Given the description of an element on the screen output the (x, y) to click on. 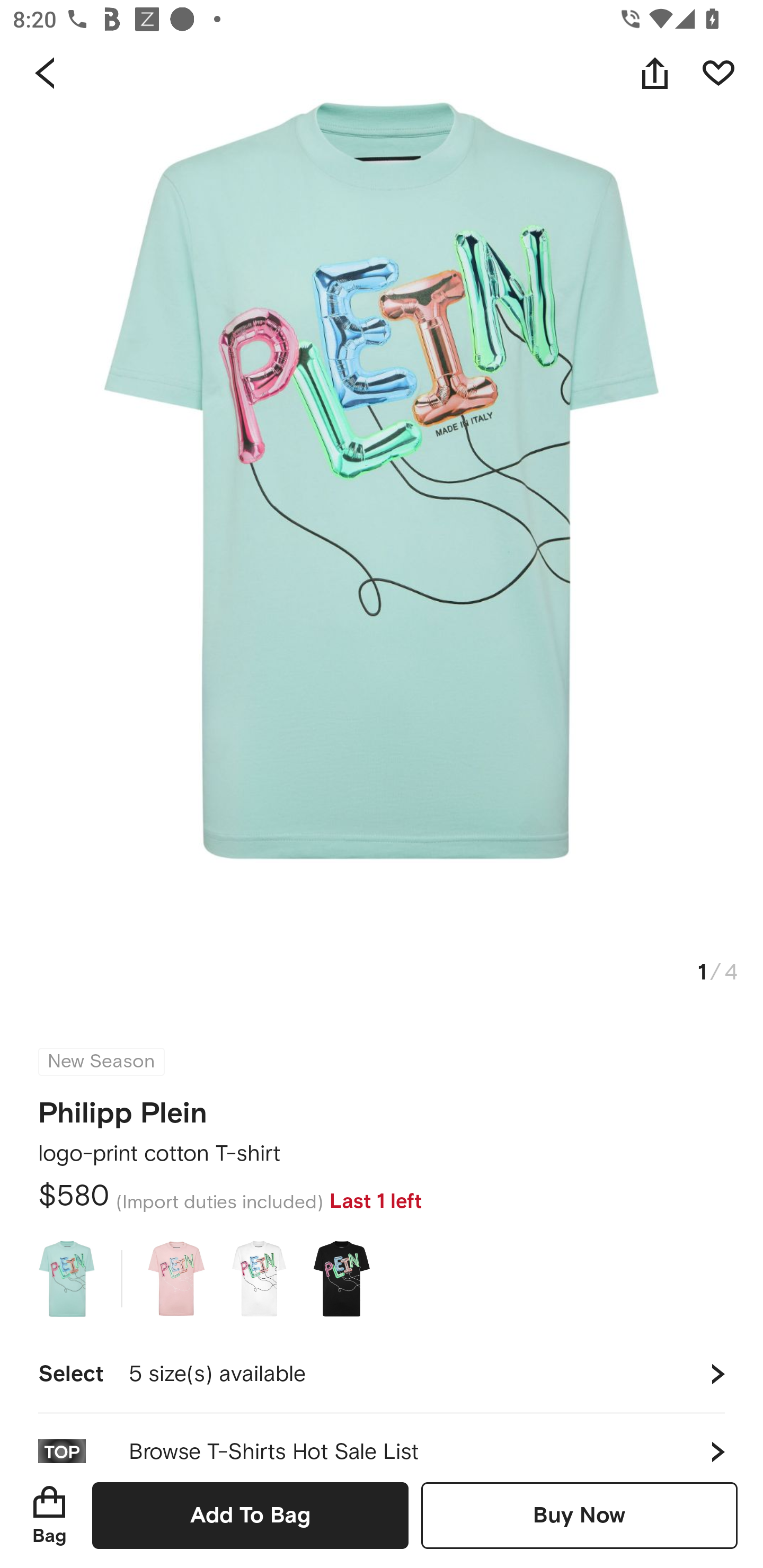
Philipp Plein (122, 1107)
Select 5 size(s) available (381, 1373)
Browse T-Shirts Hot Sale List (381, 1438)
Bag (49, 1515)
Add To Bag (250, 1515)
Buy Now (579, 1515)
